Given the description of an element on the screen output the (x, y) to click on. 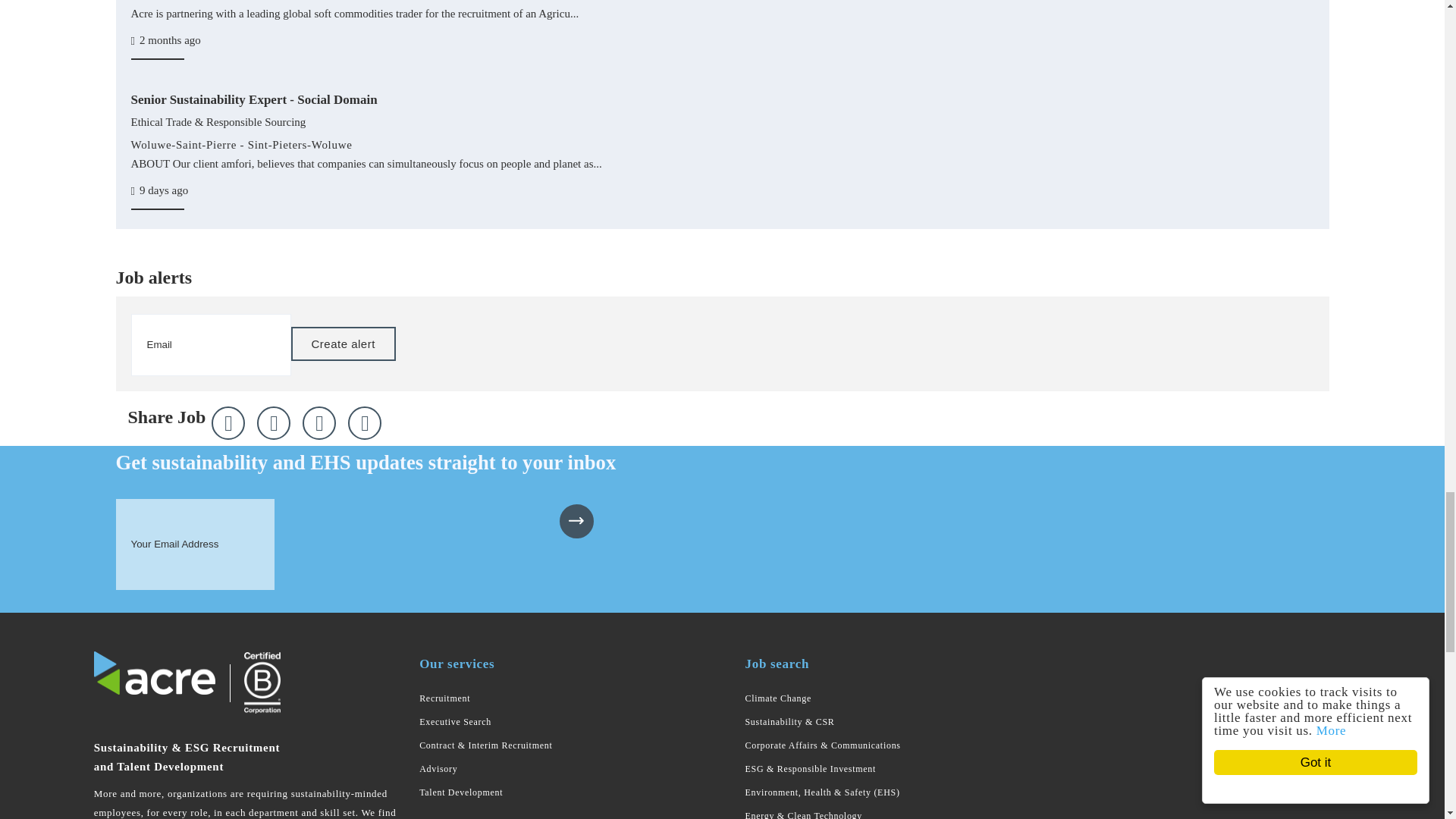
submit (576, 521)
Go to the Homepage (154, 673)
share on Facebook (273, 422)
Tweet this (227, 422)
Email (364, 422)
share on LinkedIn (319, 422)
